Given the description of an element on the screen output the (x, y) to click on. 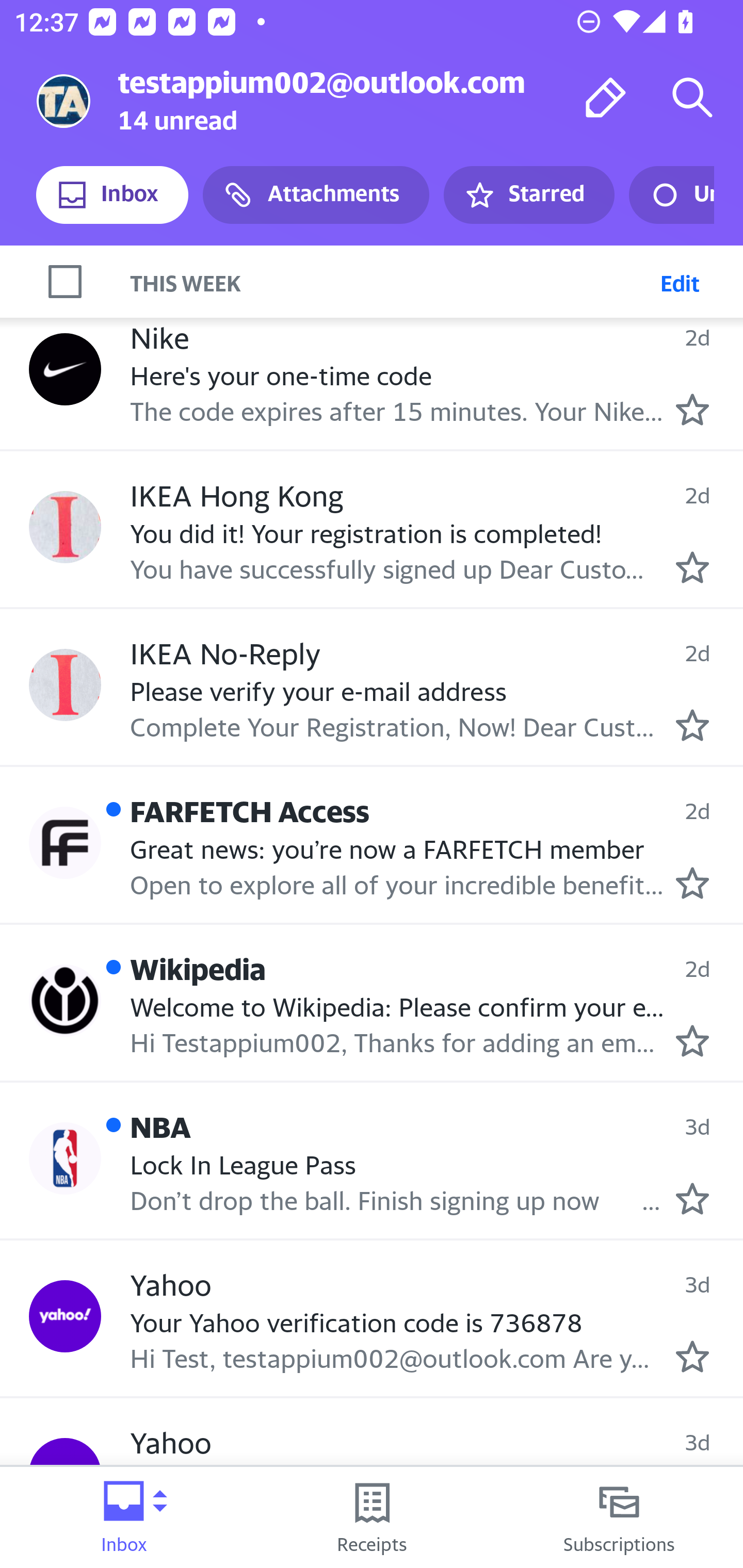
Compose (605, 97)
Search mail (692, 97)
Attachments (315, 195)
Starred (528, 195)
Profile
Nike (64, 369)
Mark as starred. (692, 410)
Profile
IKEA Hong Kong (64, 526)
Mark as starred. (692, 566)
Profile
IKEA No-Reply (64, 685)
Mark as starred. (692, 725)
Profile
FARFETCH Access (64, 842)
Mark as starred. (692, 883)
Profile
Wikipedia (64, 1000)
Mark as starred. (692, 1040)
Profile
NBA (64, 1158)
Mark as starred. (692, 1198)
Profile
Yahoo (64, 1315)
Mark as starred. (692, 1357)
Inbox Folder picker (123, 1517)
Receipts (371, 1517)
Subscriptions (619, 1517)
